Given the description of an element on the screen output the (x, y) to click on. 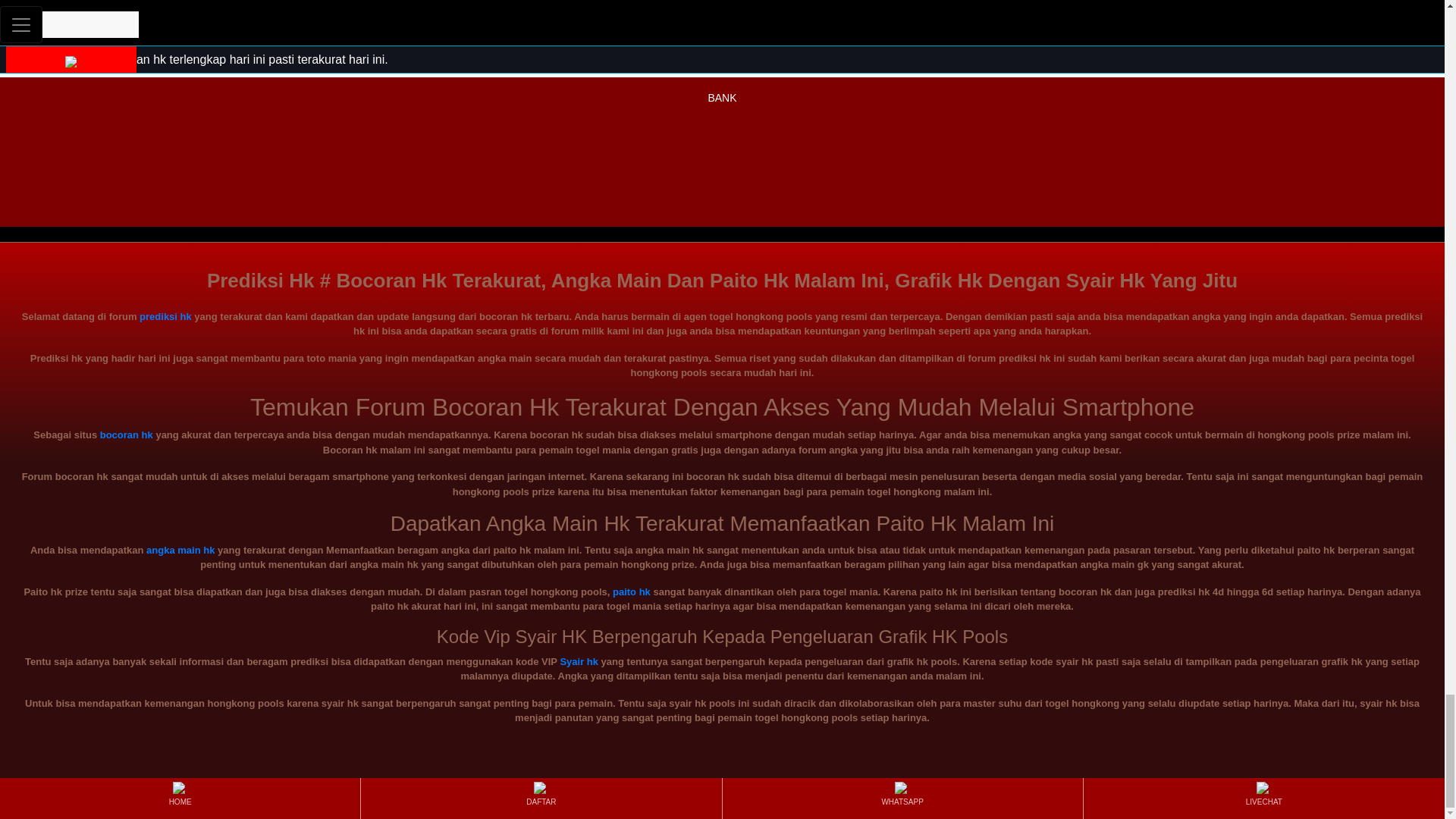
prediksi hk (165, 316)
angka main hk (180, 550)
Syair hk (578, 661)
prediksi hk (722, 38)
bocoran hk (126, 434)
paito hk (631, 591)
